Given the description of an element on the screen output the (x, y) to click on. 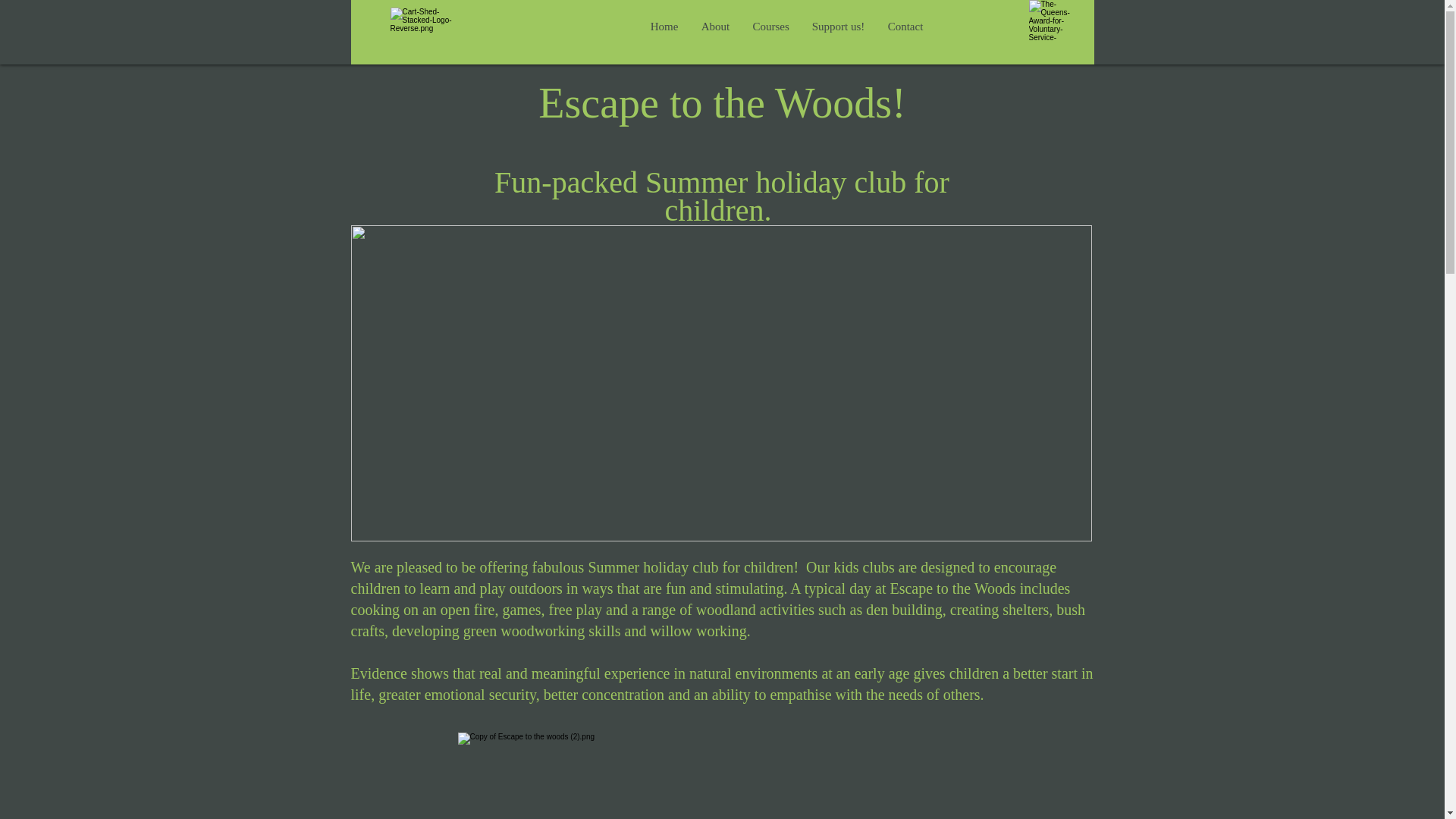
About (715, 26)
Courses (770, 26)
Home (663, 26)
Support us! (838, 26)
Contact (905, 26)
